Given the description of an element on the screen output the (x, y) to click on. 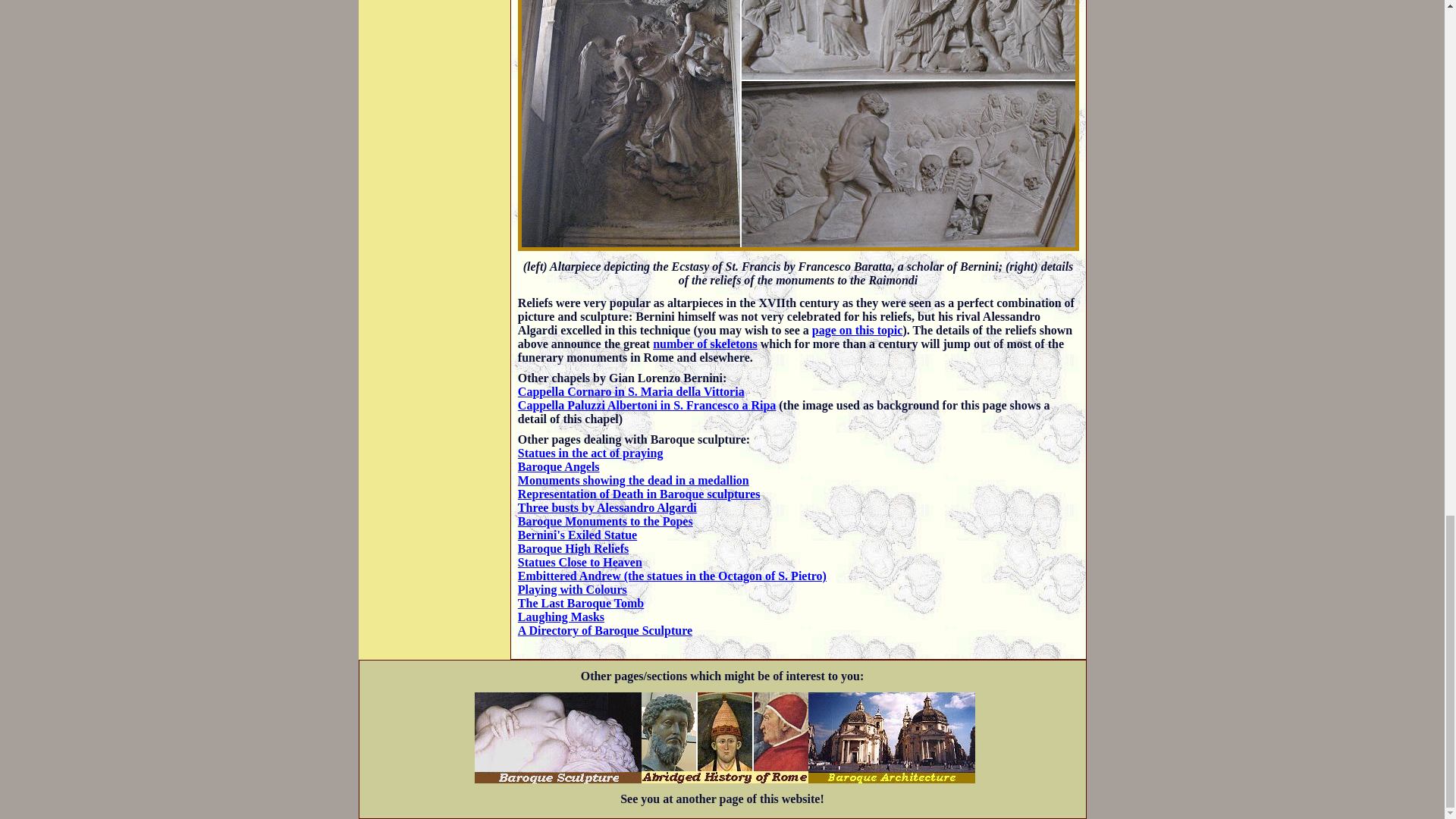
Directory of Baroque Sculpture (558, 737)
Abridged History of Rome (725, 737)
Baroque Architecture of Rome (891, 737)
